Given the description of an element on the screen output the (x, y) to click on. 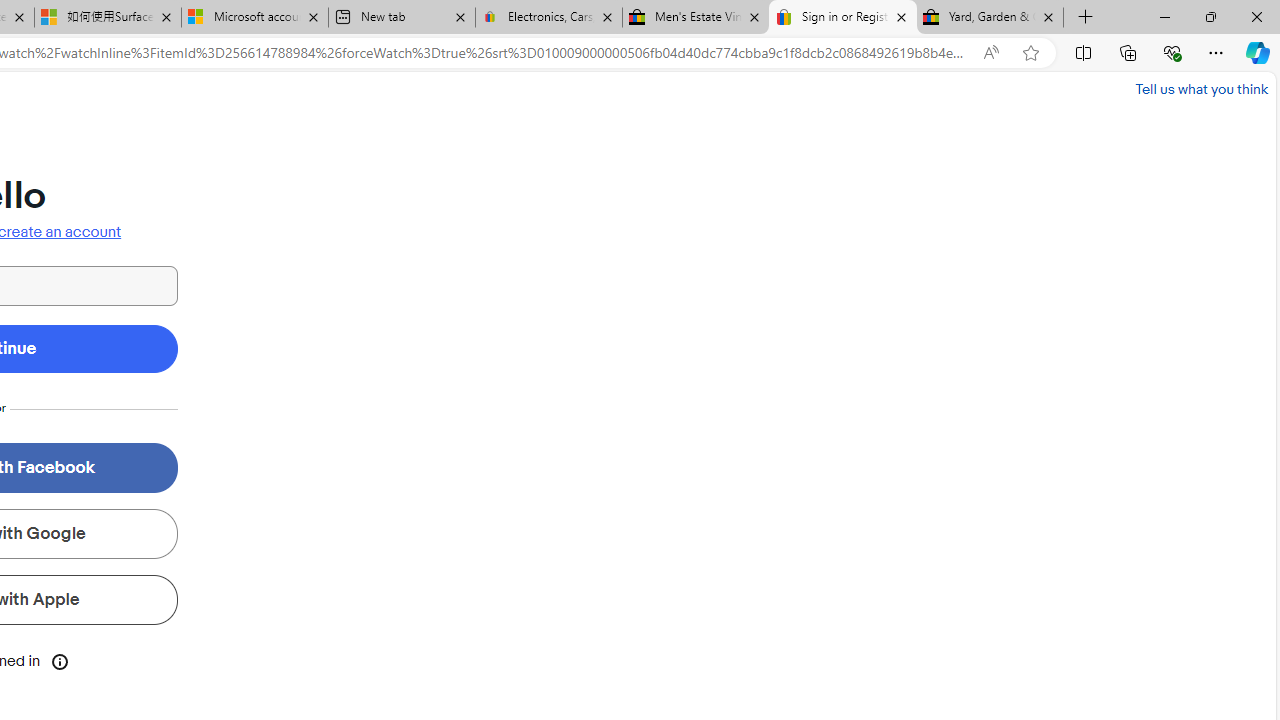
Yard, Garden & Outdoor Living (989, 17)
